Given the description of an element on the screen output the (x, y) to click on. 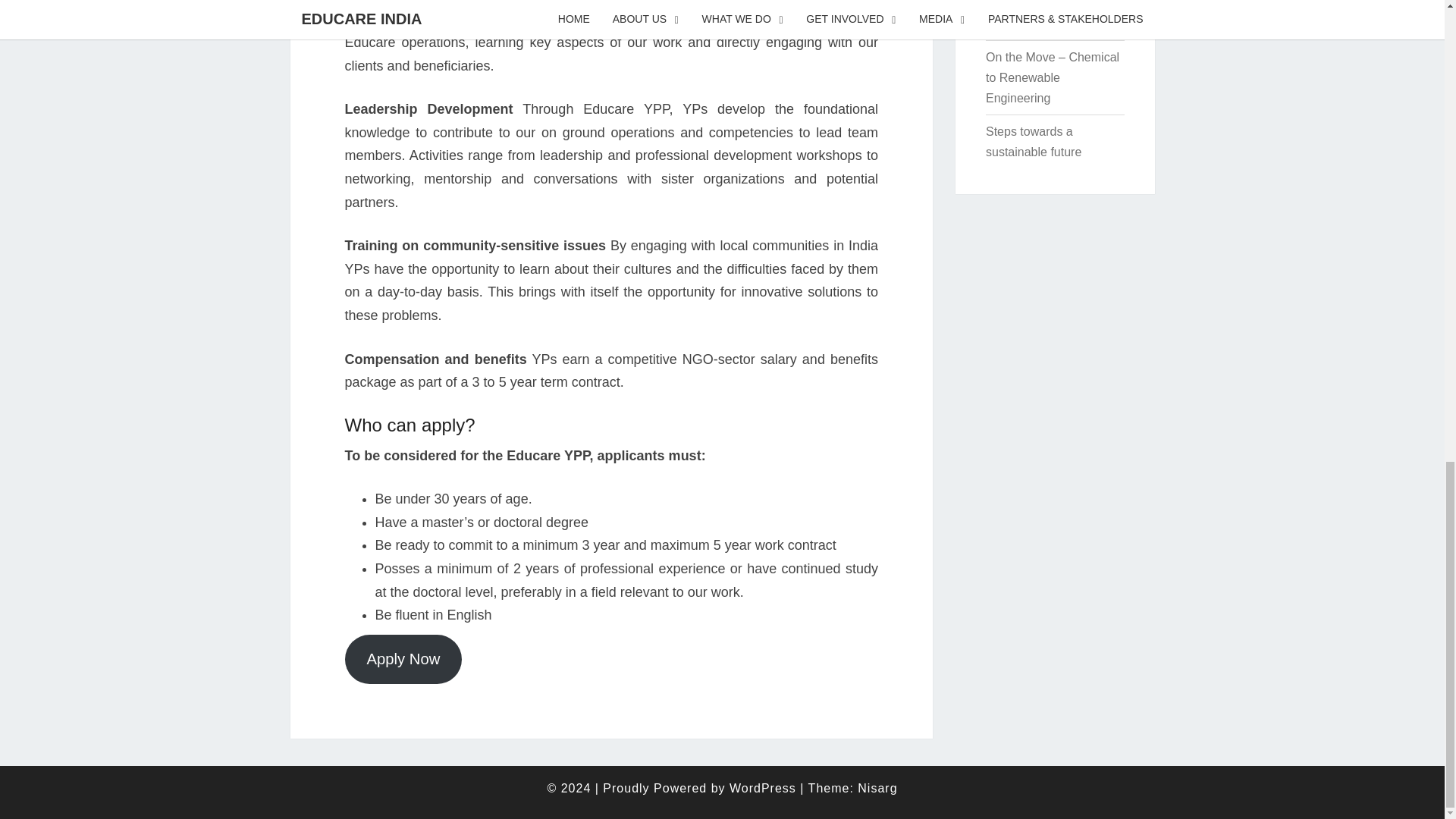
Steps towards a sustainable future (1033, 141)
Apply Now (402, 658)
WordPress (762, 788)
